Given the description of an element on the screen output the (x, y) to click on. 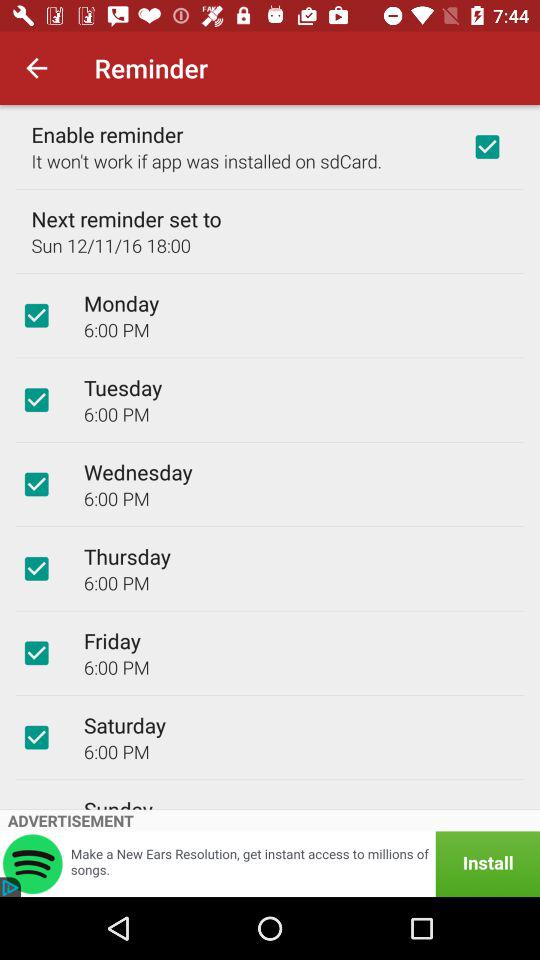
box to off (36, 315)
